Given the description of an element on the screen output the (x, y) to click on. 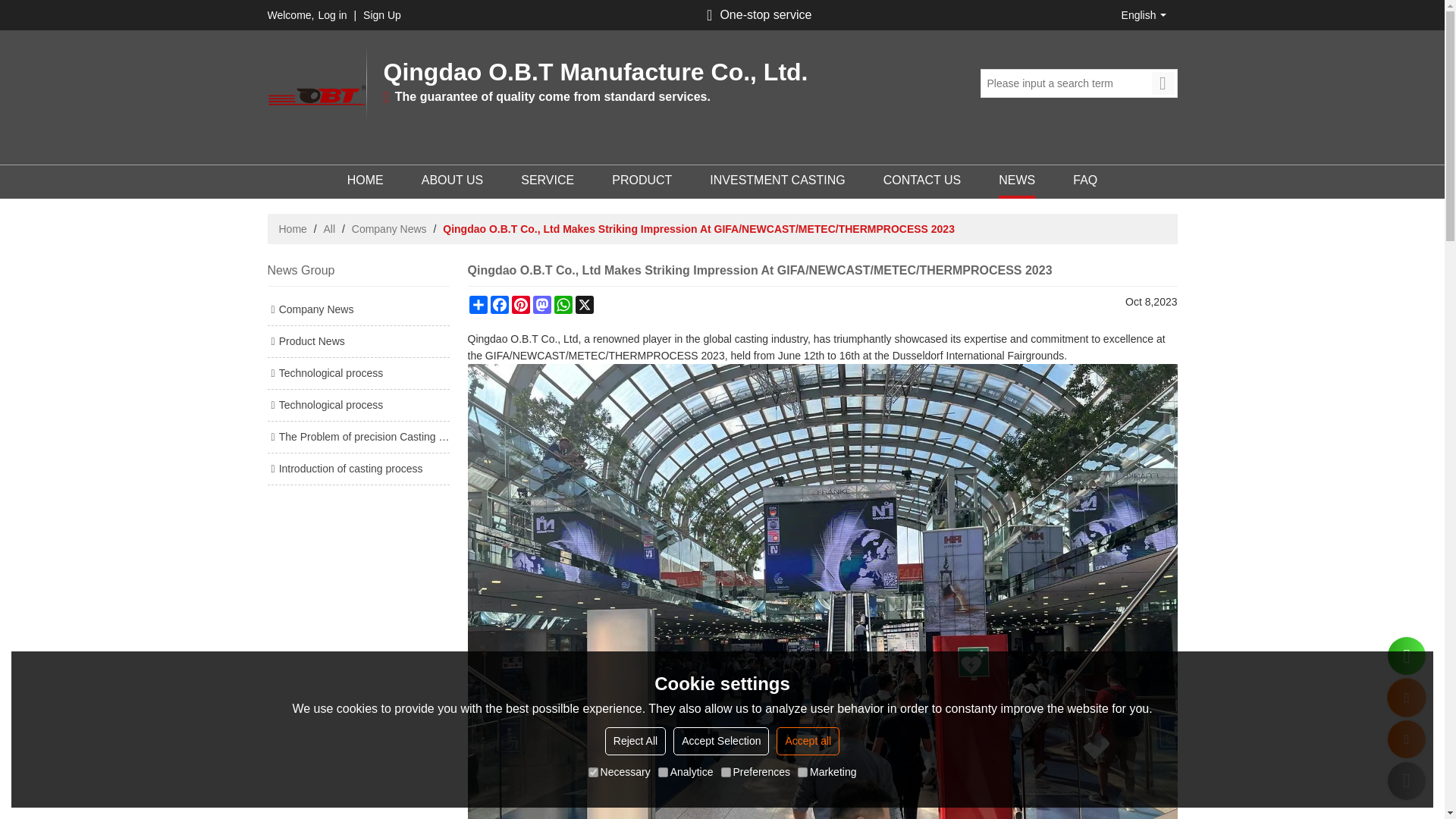
Home (293, 228)
Company News (389, 228)
HOME (365, 182)
NEWS (1016, 182)
on (725, 772)
INVESTMENT CASTING (777, 182)
Share (477, 304)
Product News (357, 341)
HOME (365, 182)
English (1141, 15)
PRODUCT (641, 182)
Log in (331, 15)
Qingdao O.B.T Manufacture Co., Ltd. (315, 95)
ABOUT US (452, 182)
ABOUT US (452, 182)
